Given the description of an element on the screen output the (x, y) to click on. 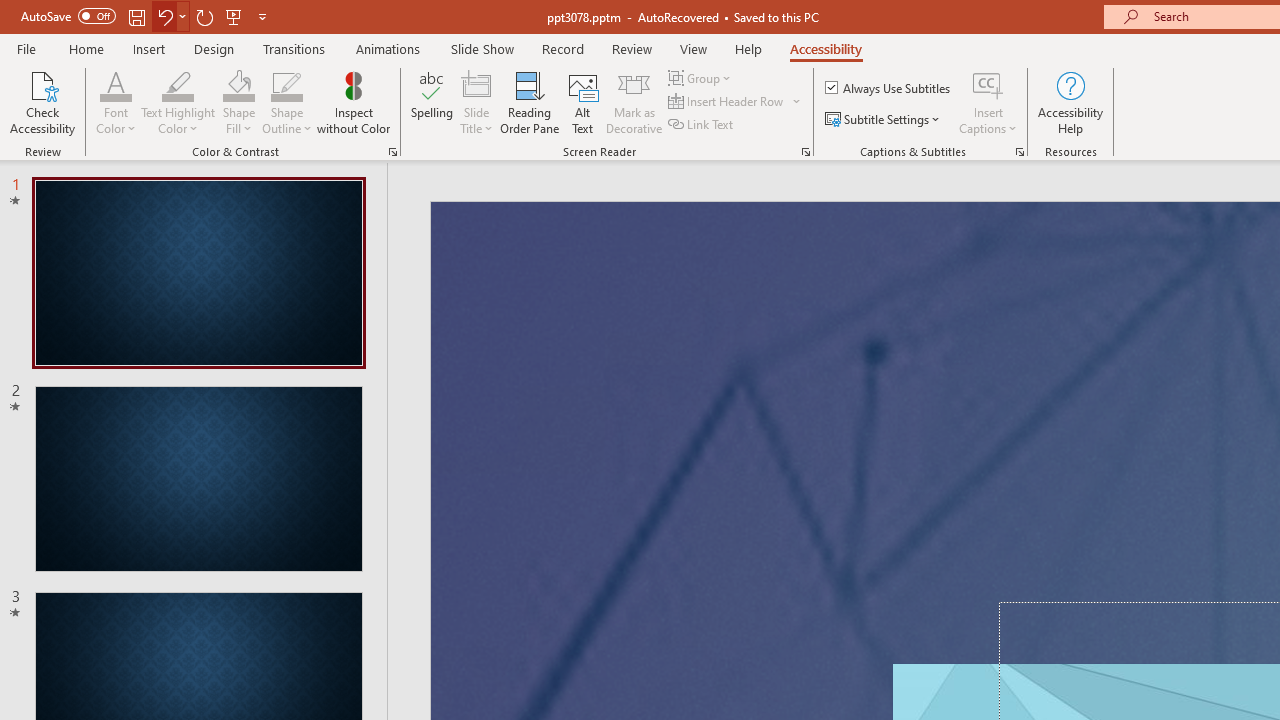
Reading Order Pane (529, 102)
Color & Contrast (392, 151)
Subtitle Settings (884, 119)
Alt Text (582, 102)
Spelling... (432, 102)
Check Accessibility (42, 102)
Insert Header Row (735, 101)
